Given the description of an element on the screen output the (x, y) to click on. 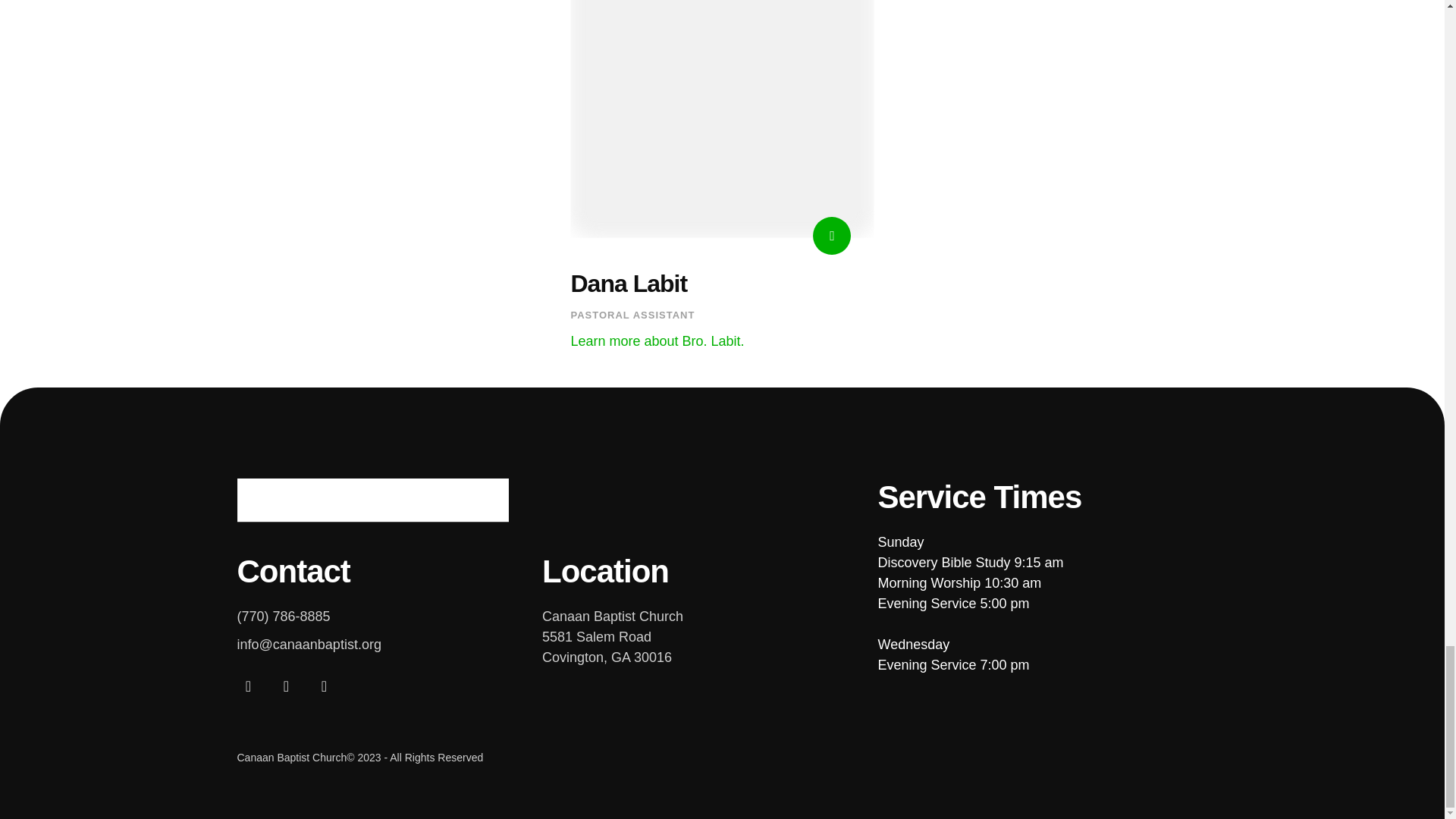
Canaan Baptist Church (371, 500)
